Given the description of an element on the screen output the (x, y) to click on. 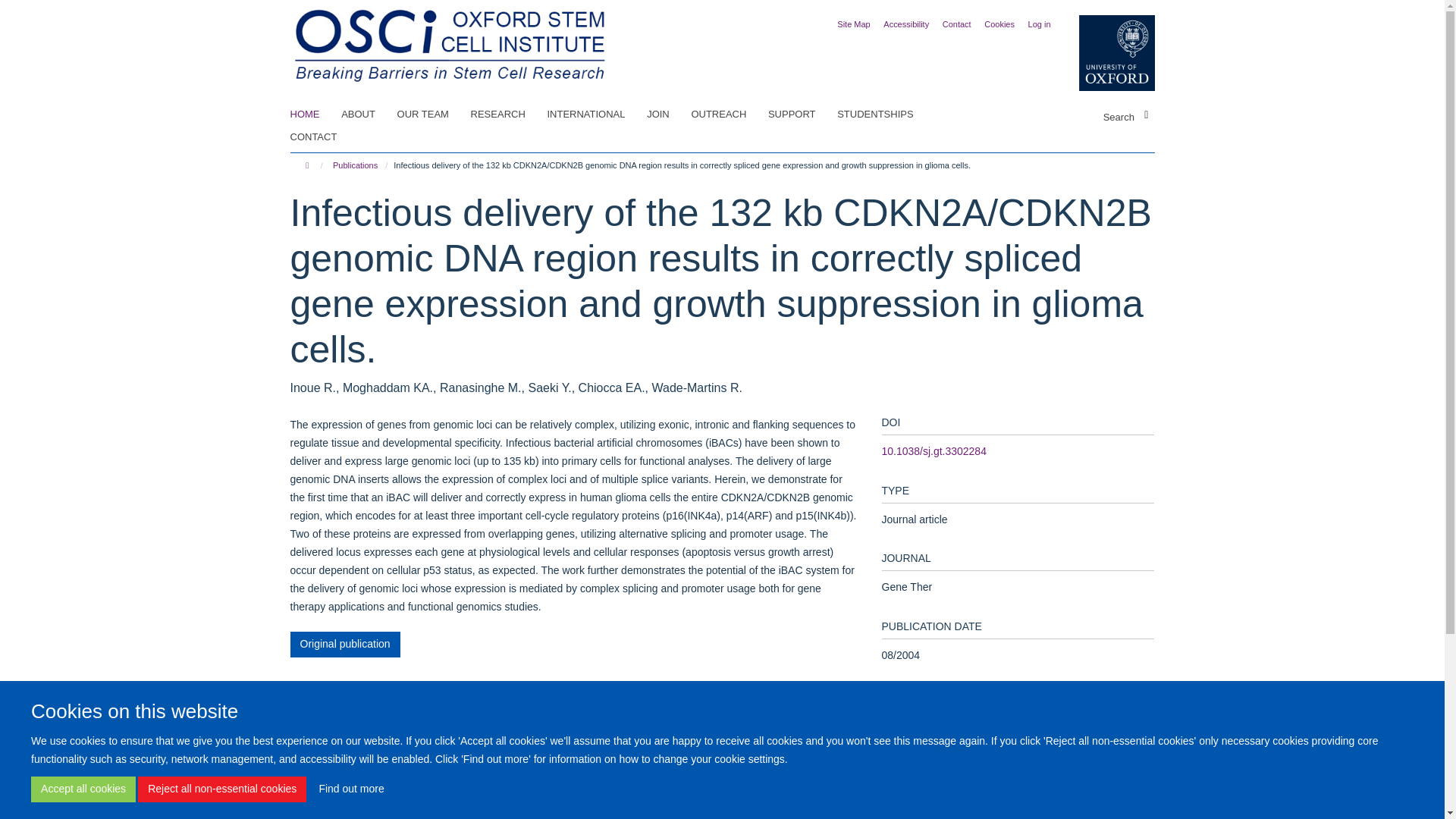
Accept all cookies (82, 789)
Reject all non-essential cookies (221, 789)
